Given the description of an element on the screen output the (x, y) to click on. 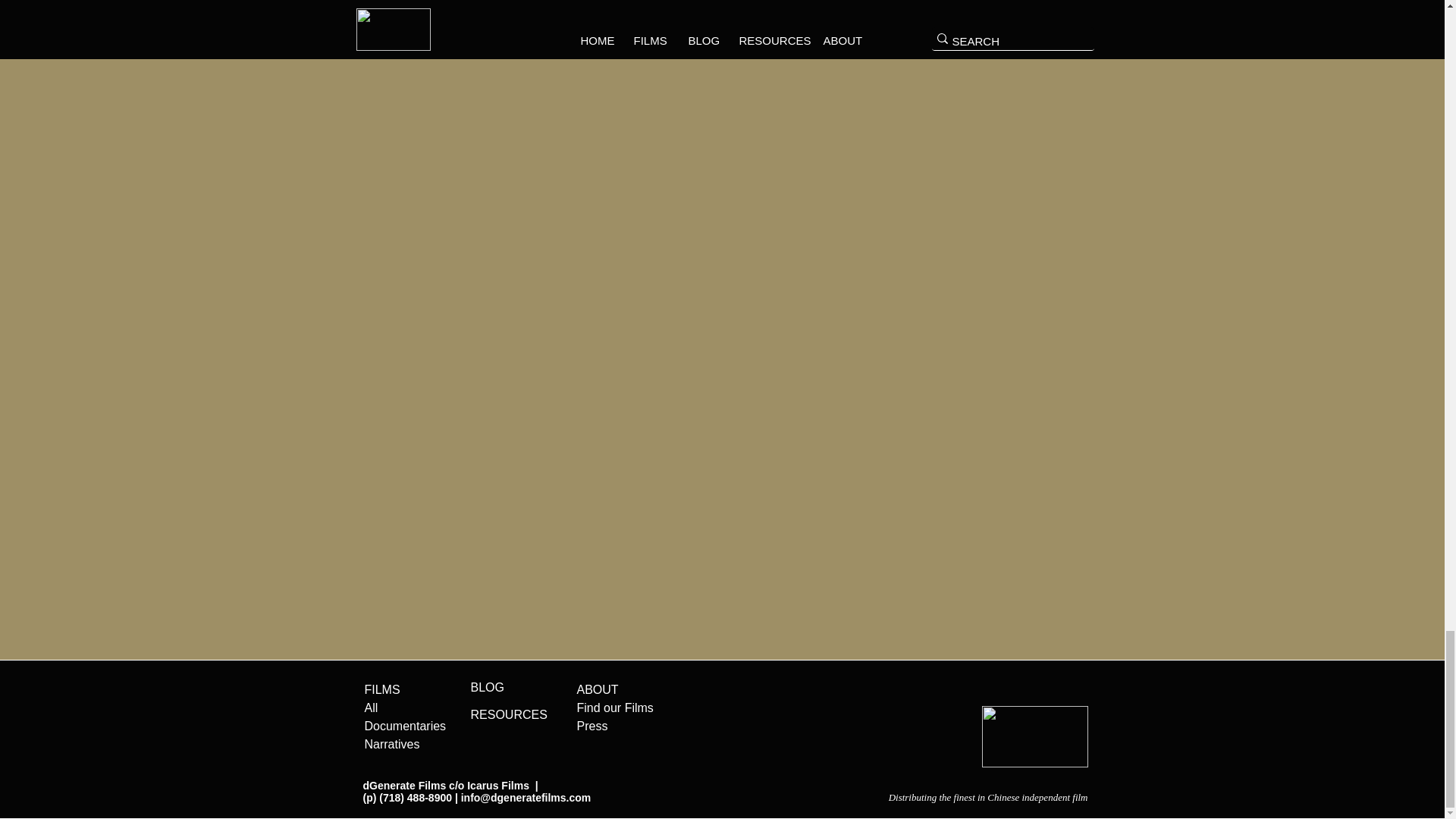
RESOURCES (508, 714)
All (370, 707)
Press (591, 725)
Find our Films (614, 707)
Narratives (391, 744)
BLOG (486, 686)
dGF Logo-white.png (1034, 736)
Documentaries (404, 725)
ABOUT (596, 689)
